Given the description of an element on the screen output the (x, y) to click on. 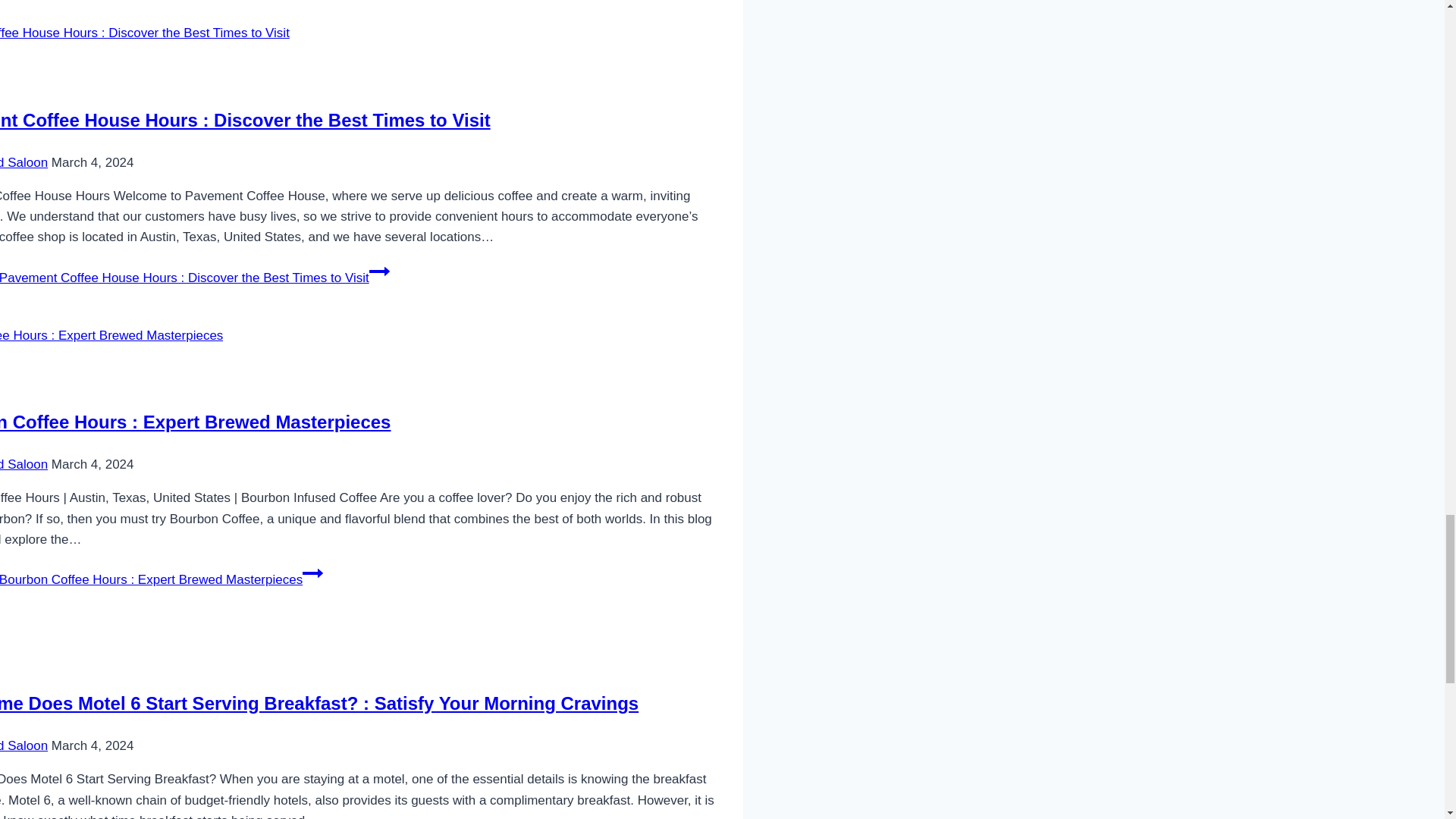
Bourbon Coffee Hours : Expert Brewed Masterpieces (195, 421)
Continue (379, 271)
Buckhead Saloon (24, 464)
Buckhead Saloon (24, 162)
Continue (312, 572)
